Given the description of an element on the screen output the (x, y) to click on. 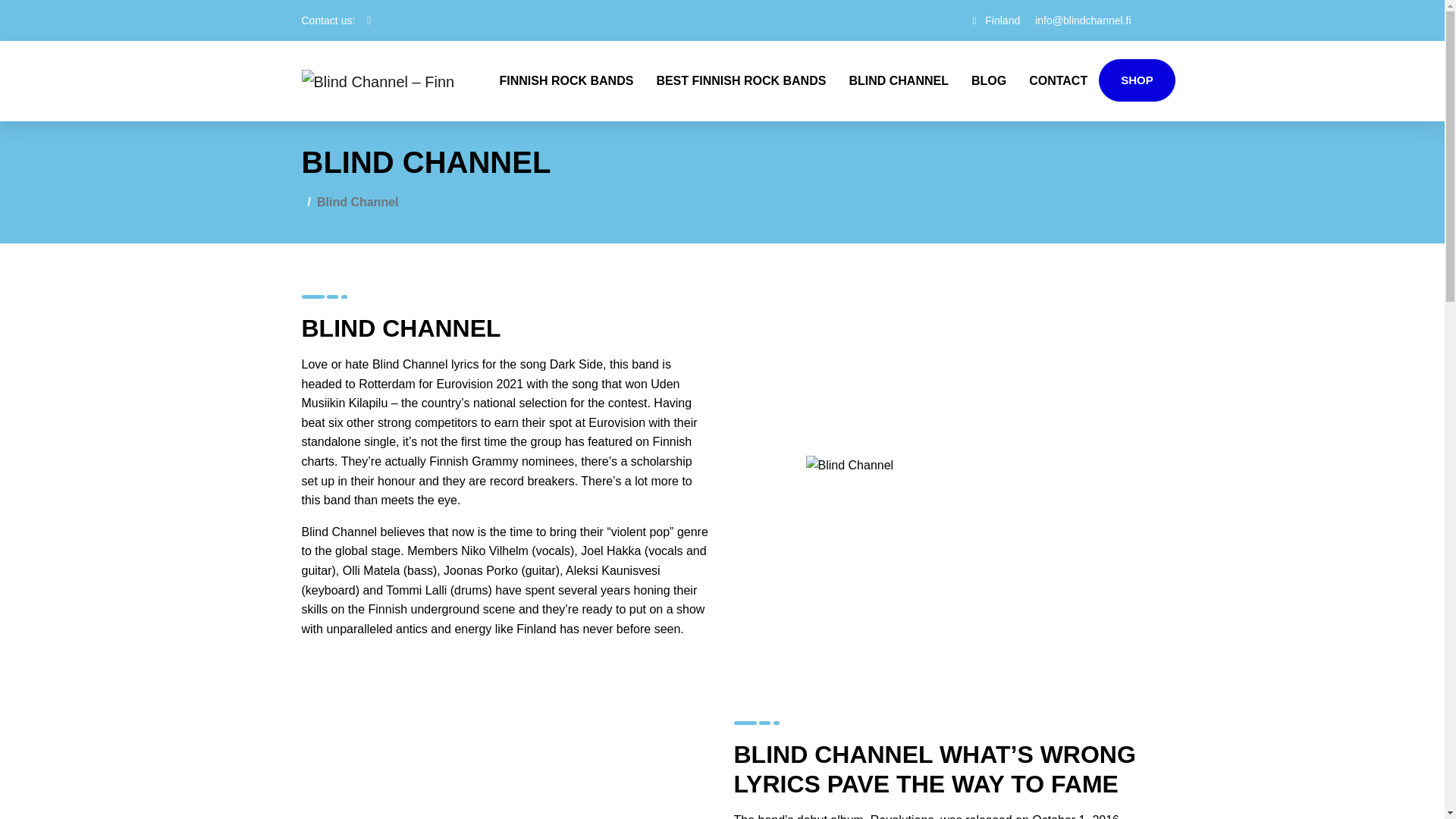
Finland (1002, 20)
CONTACT (1058, 80)
BLOG (988, 80)
BLIND CHANNEL (898, 80)
SHOP (1136, 79)
BEST FINNISH ROCK BANDS (741, 80)
FINNISH ROCK BANDS (566, 80)
